Given the description of an element on the screen output the (x, y) to click on. 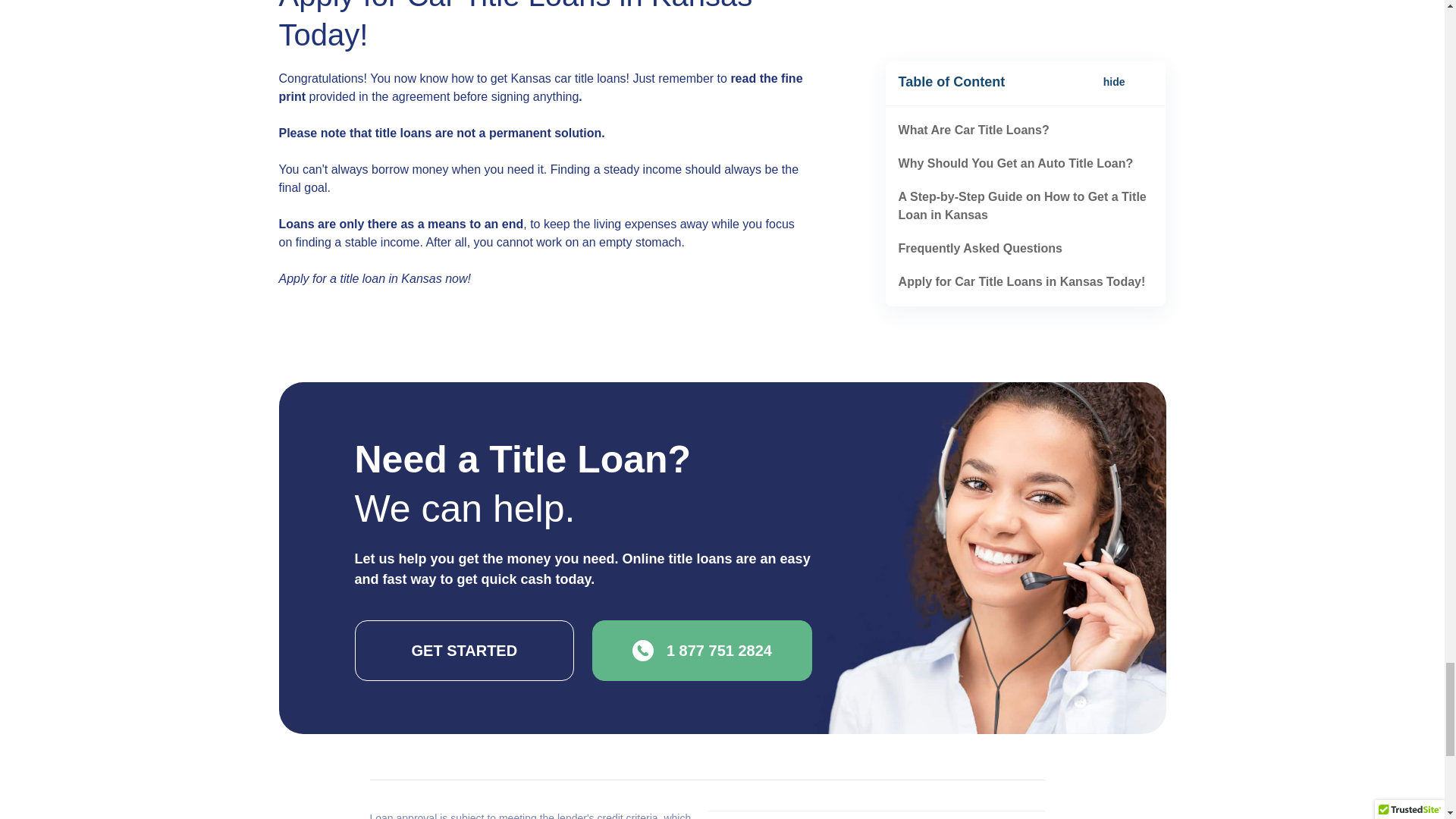
1 877 751 2824 (702, 649)
GET STARTED (465, 649)
